Given the description of an element on the screen output the (x, y) to click on. 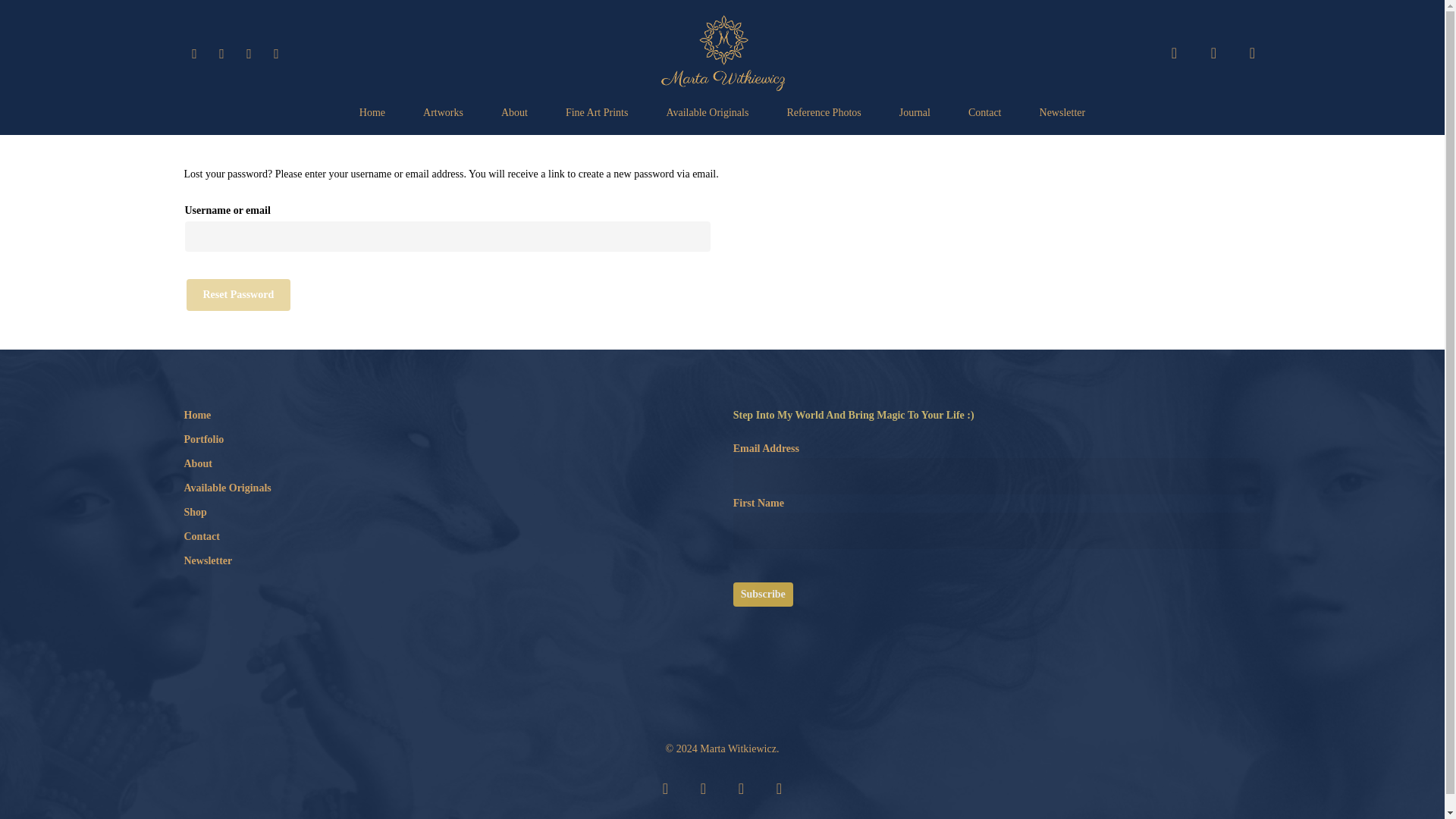
About (447, 464)
Journal (914, 112)
pinterest (740, 787)
Newsletter (1062, 112)
Pinterest (248, 53)
Newsletter (447, 561)
instagram (778, 787)
About (514, 112)
Subscribe (763, 594)
Reset Password (238, 295)
